Given the description of an element on the screen output the (x, y) to click on. 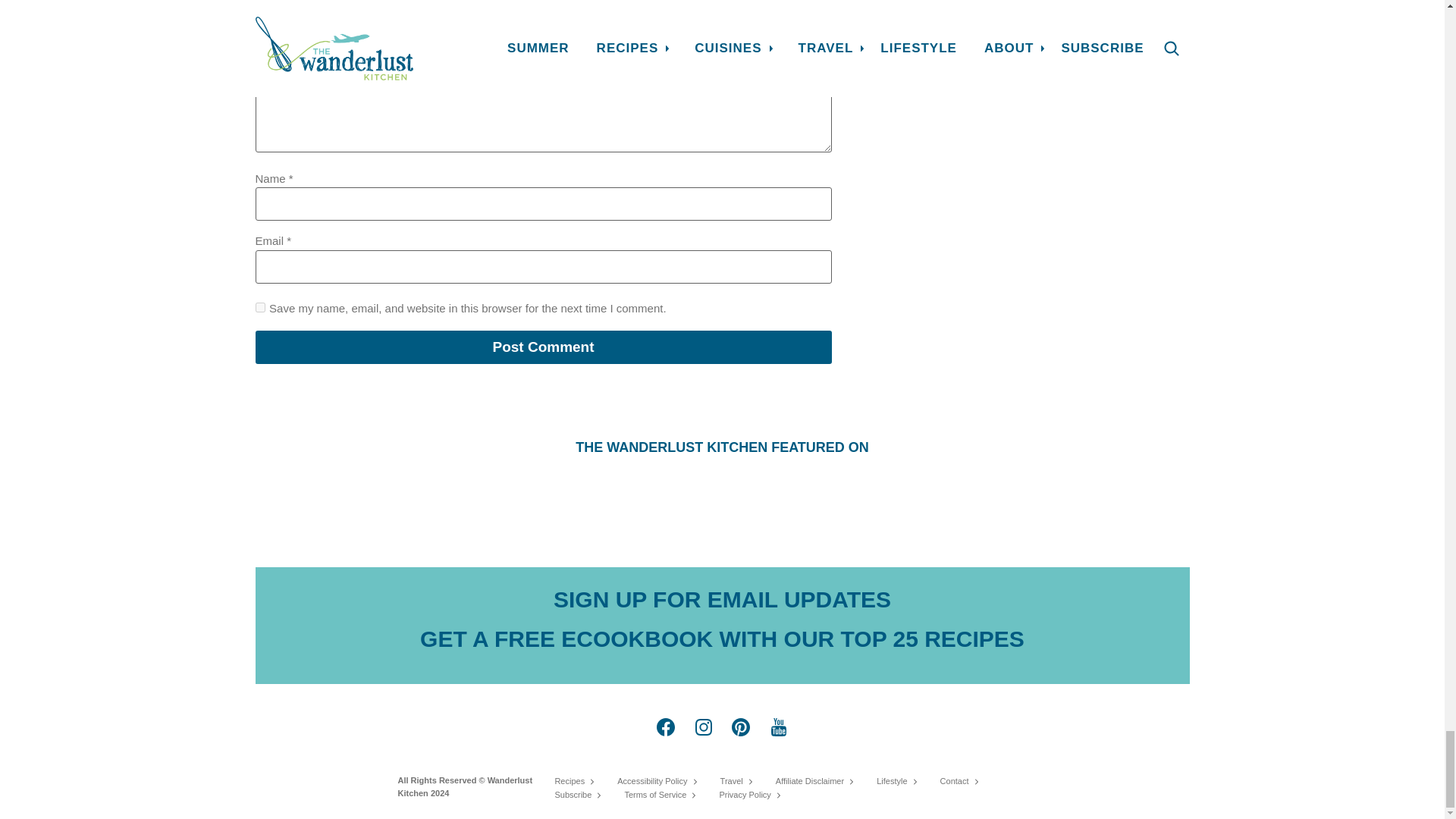
Post Comment (542, 347)
yes (259, 307)
